Given the description of an element on the screen output the (x, y) to click on. 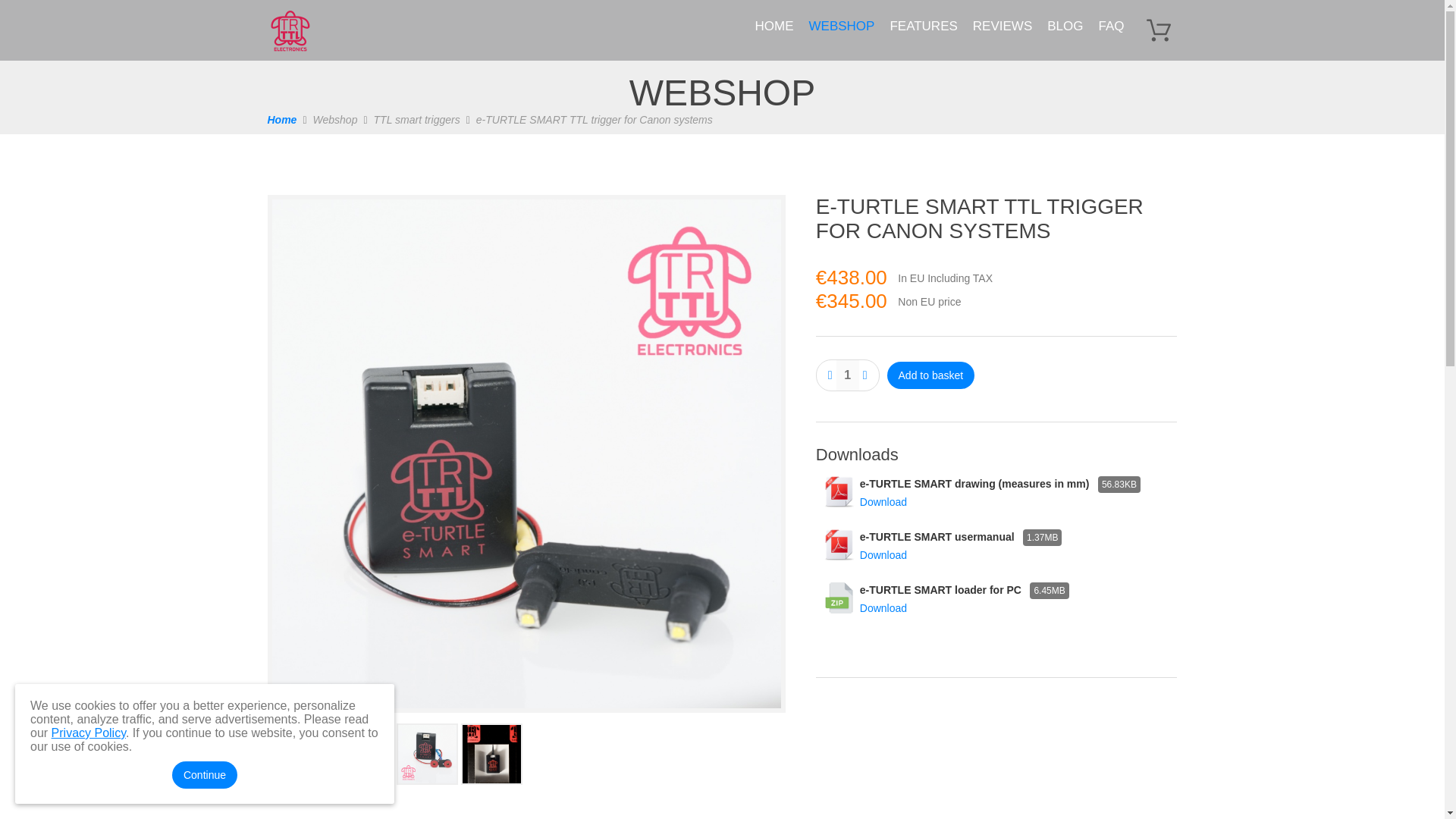
Webshop (335, 119)
Basket (1157, 30)
Webshop (996, 599)
e-TURTLE SMART TTL trigger for Canon systems (335, 119)
Trt-Electronics (594, 119)
TTL smart triggers (289, 30)
FEATURES (417, 119)
FAQ (922, 26)
Features (1110, 26)
Add to basket (922, 26)
Home (930, 375)
Reviews (775, 26)
e-TURTLE SMART TTL trigger for Canon systems (1002, 26)
REVIEWS (525, 707)
